Given the description of an element on the screen output the (x, y) to click on. 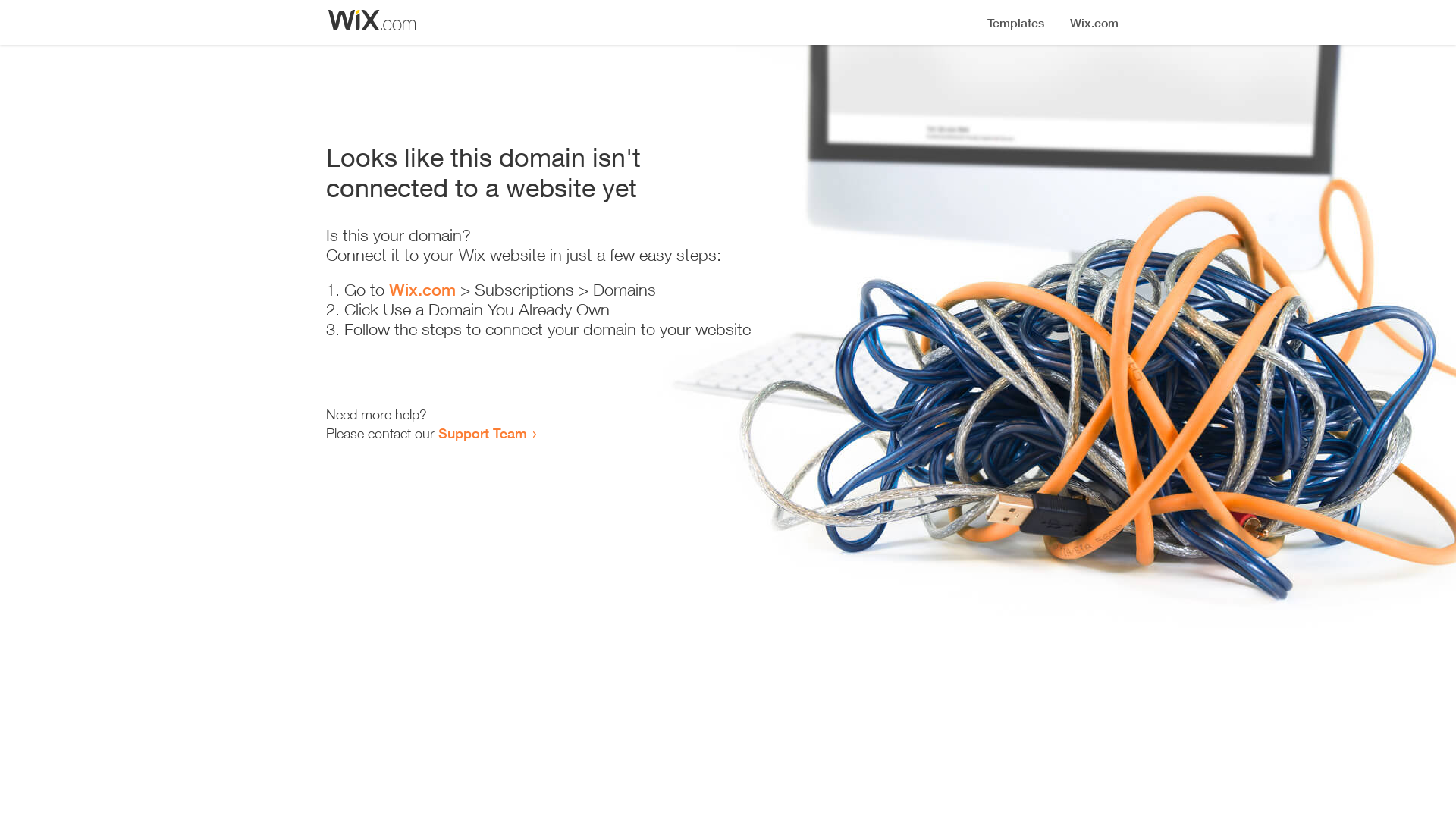
Wix.com Element type: text (422, 289)
Support Team Element type: text (482, 432)
